Given the description of an element on the screen output the (x, y) to click on. 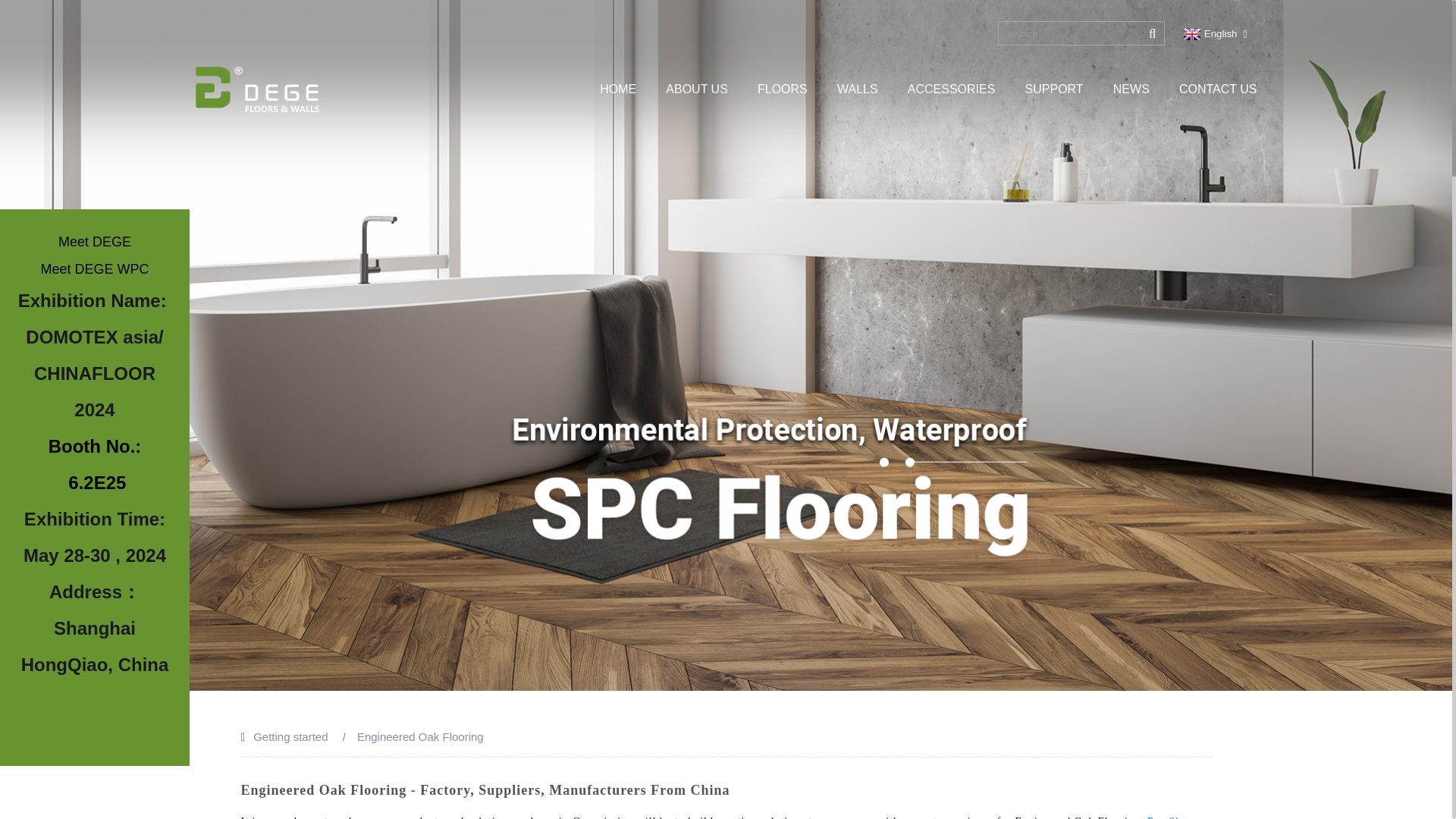
English (1208, 33)
FLOORS (782, 89)
ABOUT US (696, 89)
